Given the description of an element on the screen output the (x, y) to click on. 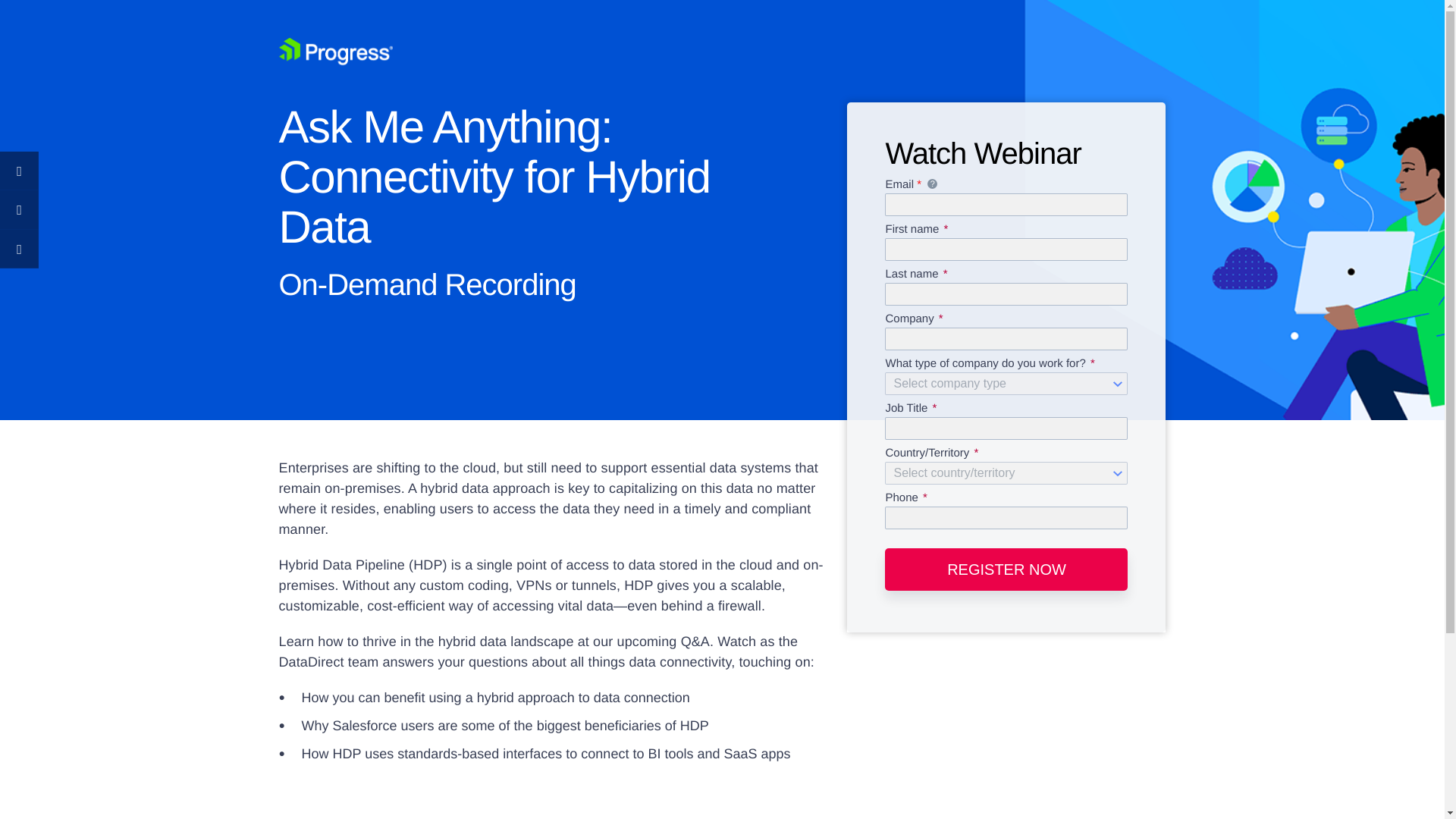
REGISTER NOW (1005, 568)
